Given the description of an element on the screen output the (x, y) to click on. 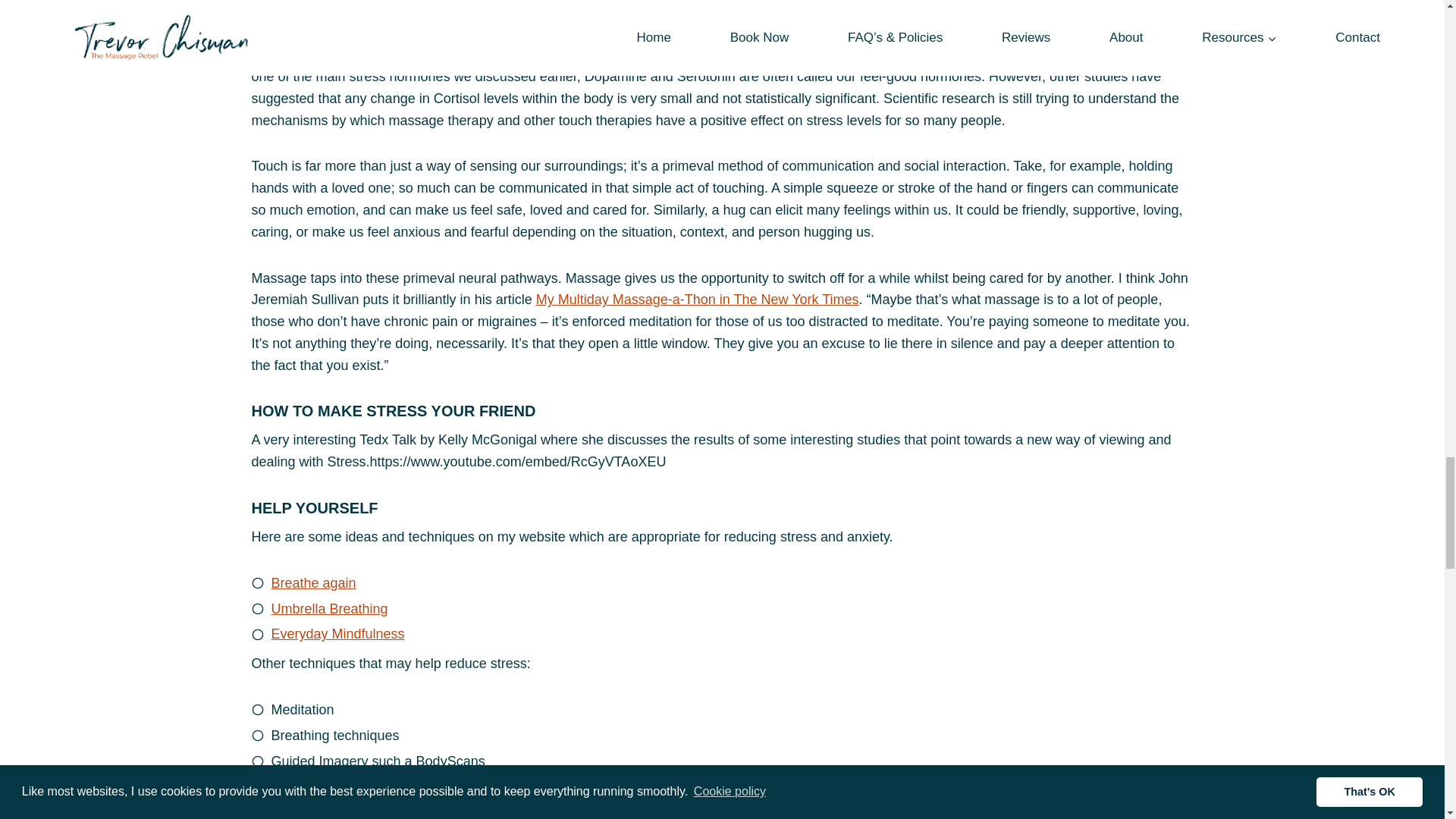
Umbrella Breathing (329, 608)
Everyday Mindfulness (337, 633)
My Multiday Massage-a-Thon in The New York Times (697, 299)
Breathe again (313, 582)
